Given the description of an element on the screen output the (x, y) to click on. 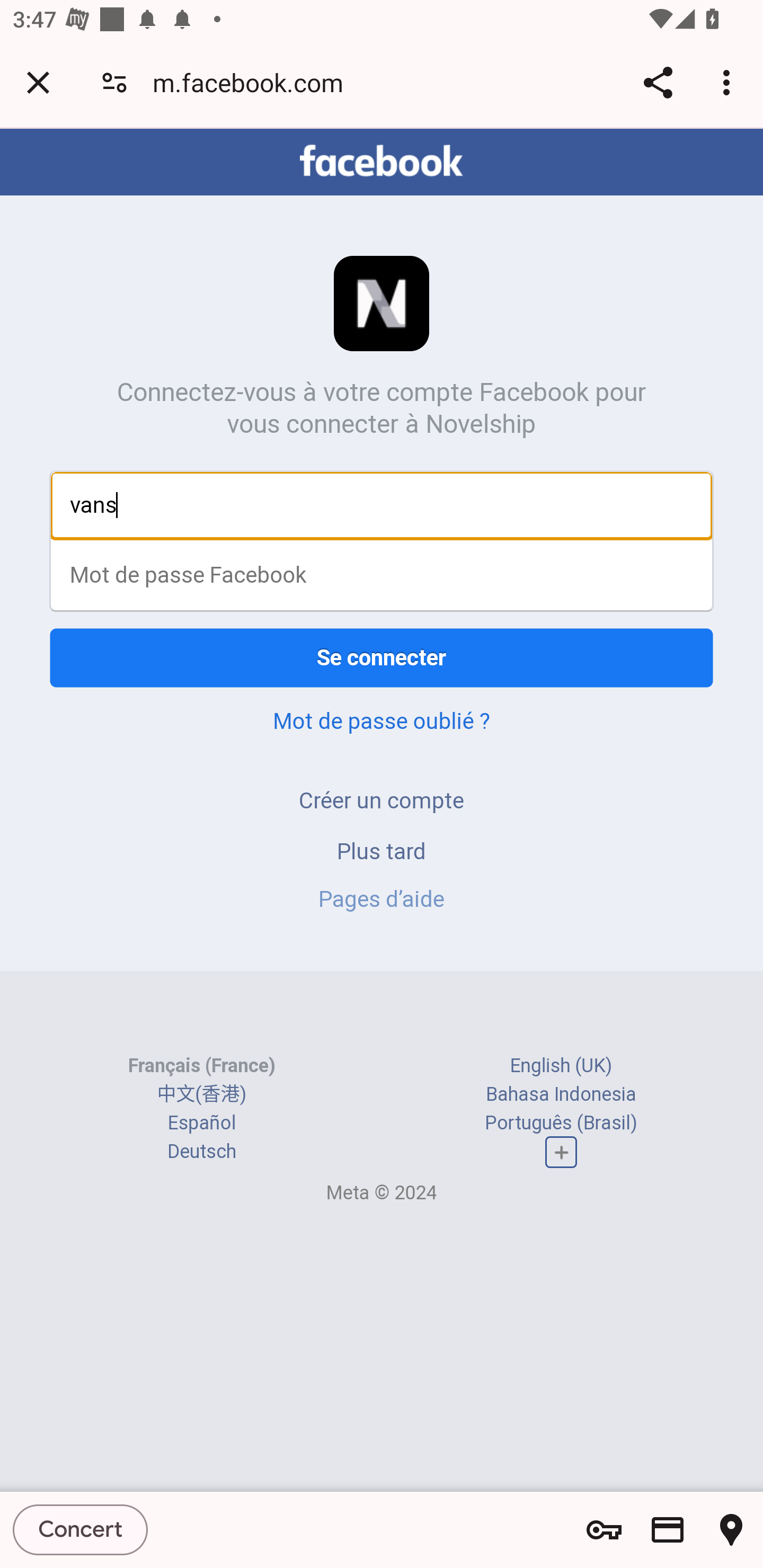
Close tab (38, 82)
Share (657, 82)
Customize and control Google Chrome (729, 82)
Connection is secure (114, 81)
m.facebook.com (254, 81)
facebook (381, 160)
vans (381, 505)
Se connecter (381, 657)
Mot de passe oublié ? (381, 720)
Créer un compte (381, 800)
Plus tard (381, 850)
Pages d’aide (381, 898)
English (UK) (560, 1065)
中文(香港) (201, 1093)
Bahasa Indonesia (560, 1093)
Español (201, 1122)
Português (Brasil) (560, 1122)
Liste complète des langues (560, 1152)
Deutsch (201, 1151)
Concert (80, 1529)
Show saved passwords and password options (603, 1530)
Show saved payment methods (667, 1530)
Show saved addresses (731, 1530)
